Given the description of an element on the screen output the (x, y) to click on. 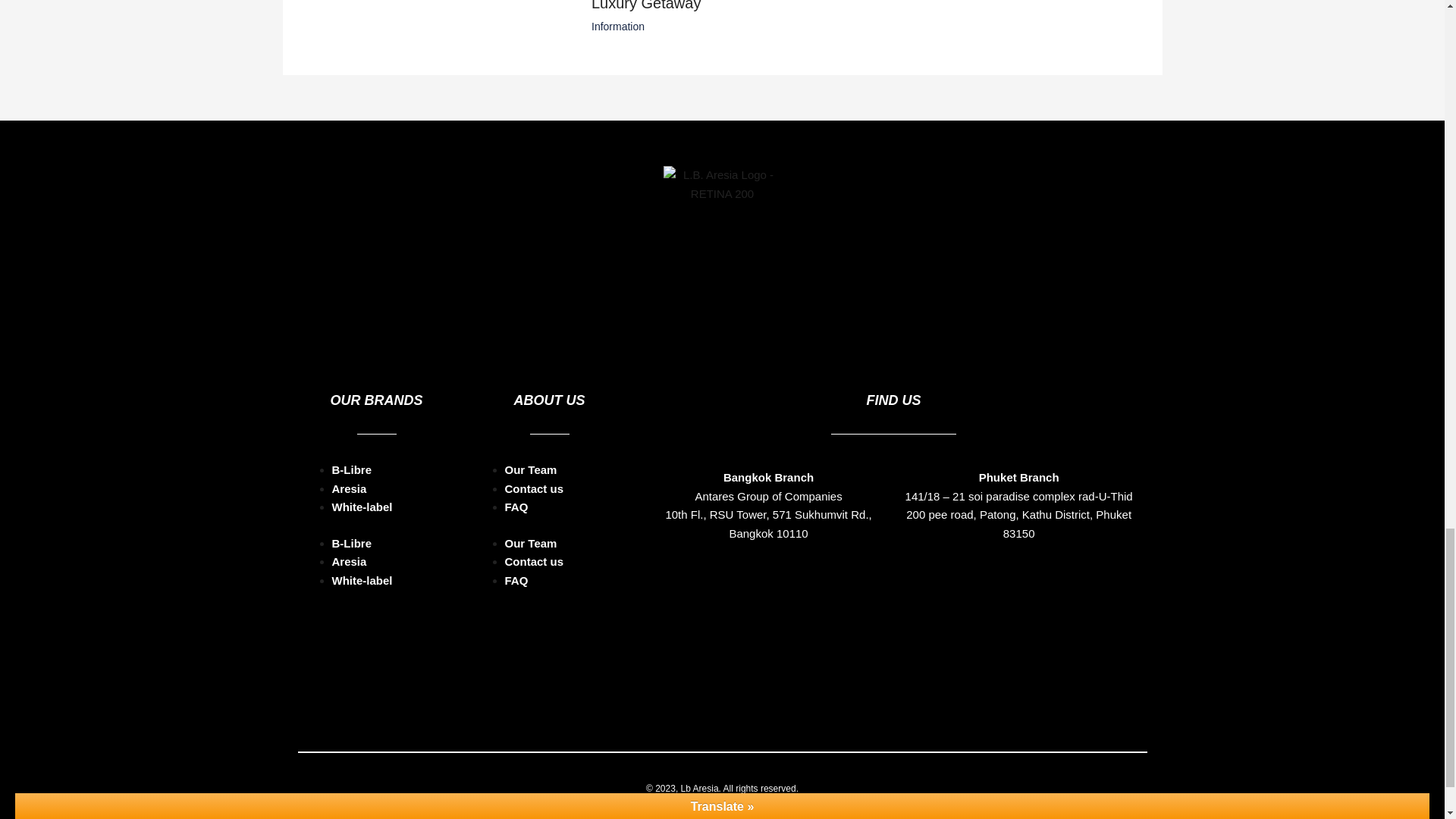
Aresia (348, 425)
B-Libre (351, 480)
Melki.Biz Web Design (763, 744)
White-label (362, 517)
White-label (362, 444)
Aresia (348, 499)
B-Libre (351, 406)
